Given the description of an element on the screen output the (x, y) to click on. 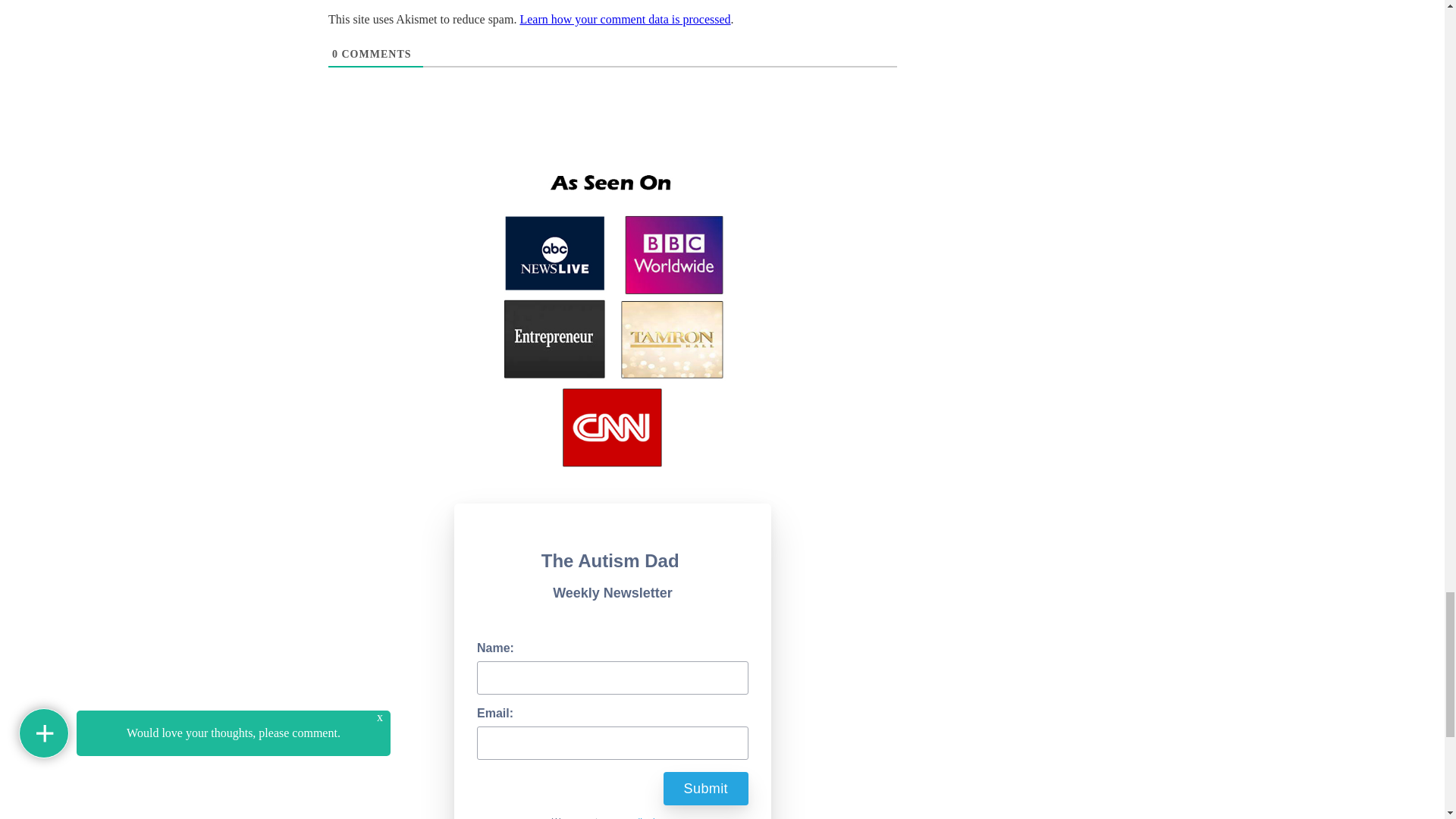
Submit (705, 788)
